Given the description of an element on the screen output the (x, y) to click on. 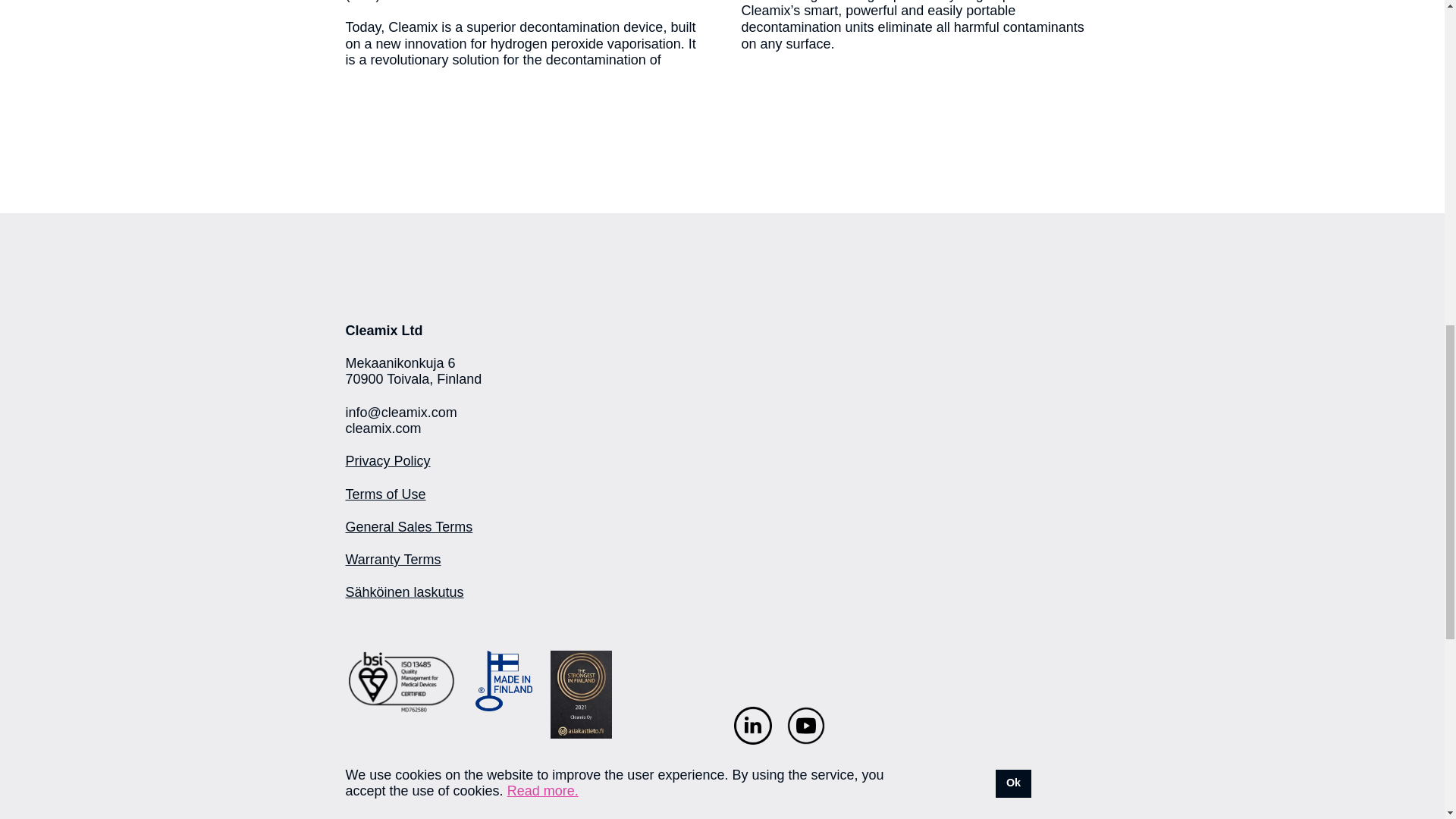
General Sales Terms (409, 526)
Terms of Use (386, 494)
Warranty Terms (393, 559)
Privacy Policy (388, 460)
